Given the description of an element on the screen output the (x, y) to click on. 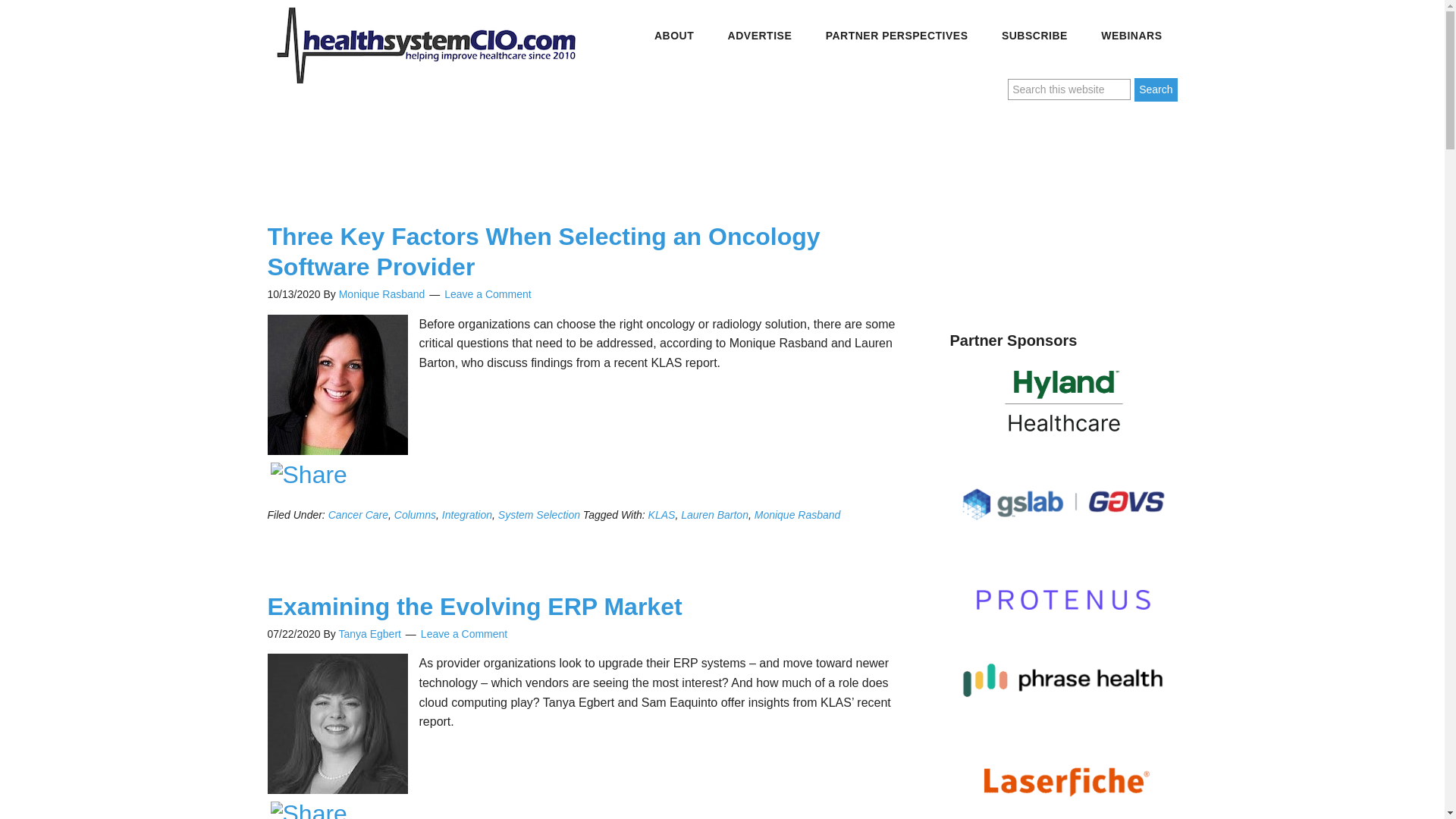
WEBINARS (1131, 35)
3rd party ad content (1062, 209)
3rd party ad content (547, 149)
Search (1155, 89)
Search (1155, 89)
Monique Rasband (382, 294)
ABOUT (674, 35)
Search (1155, 89)
SUBSCRIBE (1035, 35)
